Given the description of an element on the screen output the (x, y) to click on. 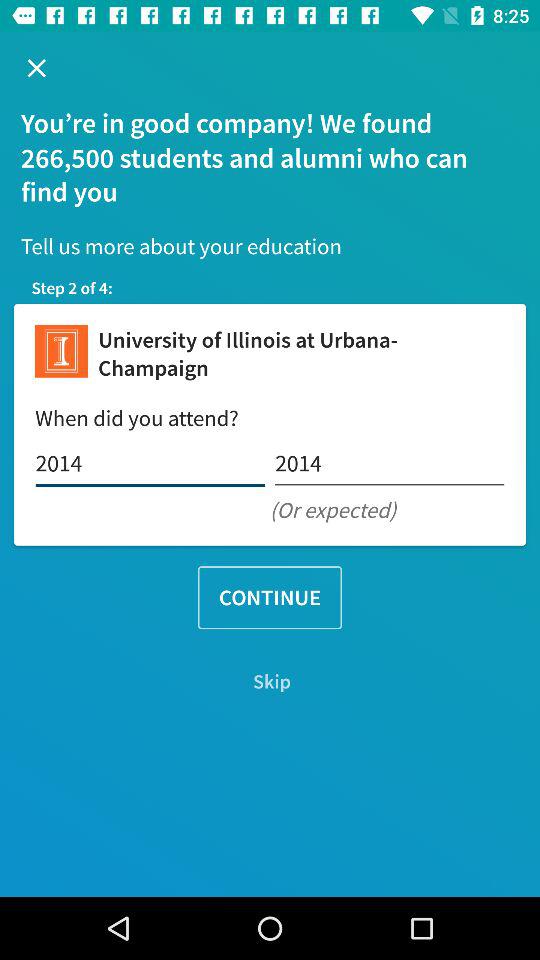
launch the item below the continue item (269, 681)
